Given the description of an element on the screen output the (x, y) to click on. 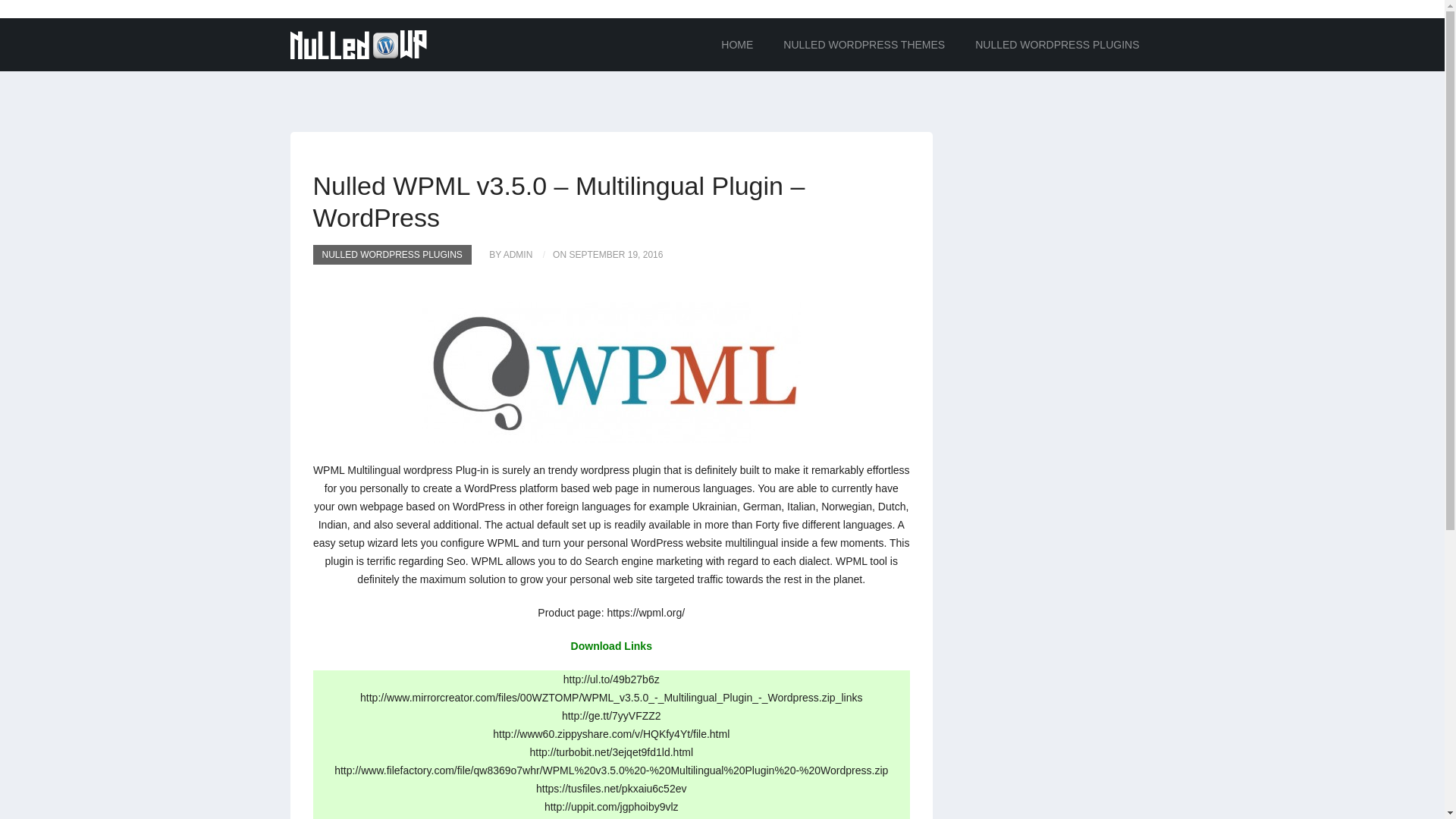
BY ADMIN (503, 254)
NULLED WORDPRESS THEMES (863, 44)
Written by admin (503, 254)
NULLED WORDPRESS PLUGINS (1056, 44)
Nulled WP -  (357, 43)
HOME (737, 44)
NULLED WORDPRESS PLUGINS (391, 254)
Nulled WP -  (357, 44)
